Given the description of an element on the screen output the (x, y) to click on. 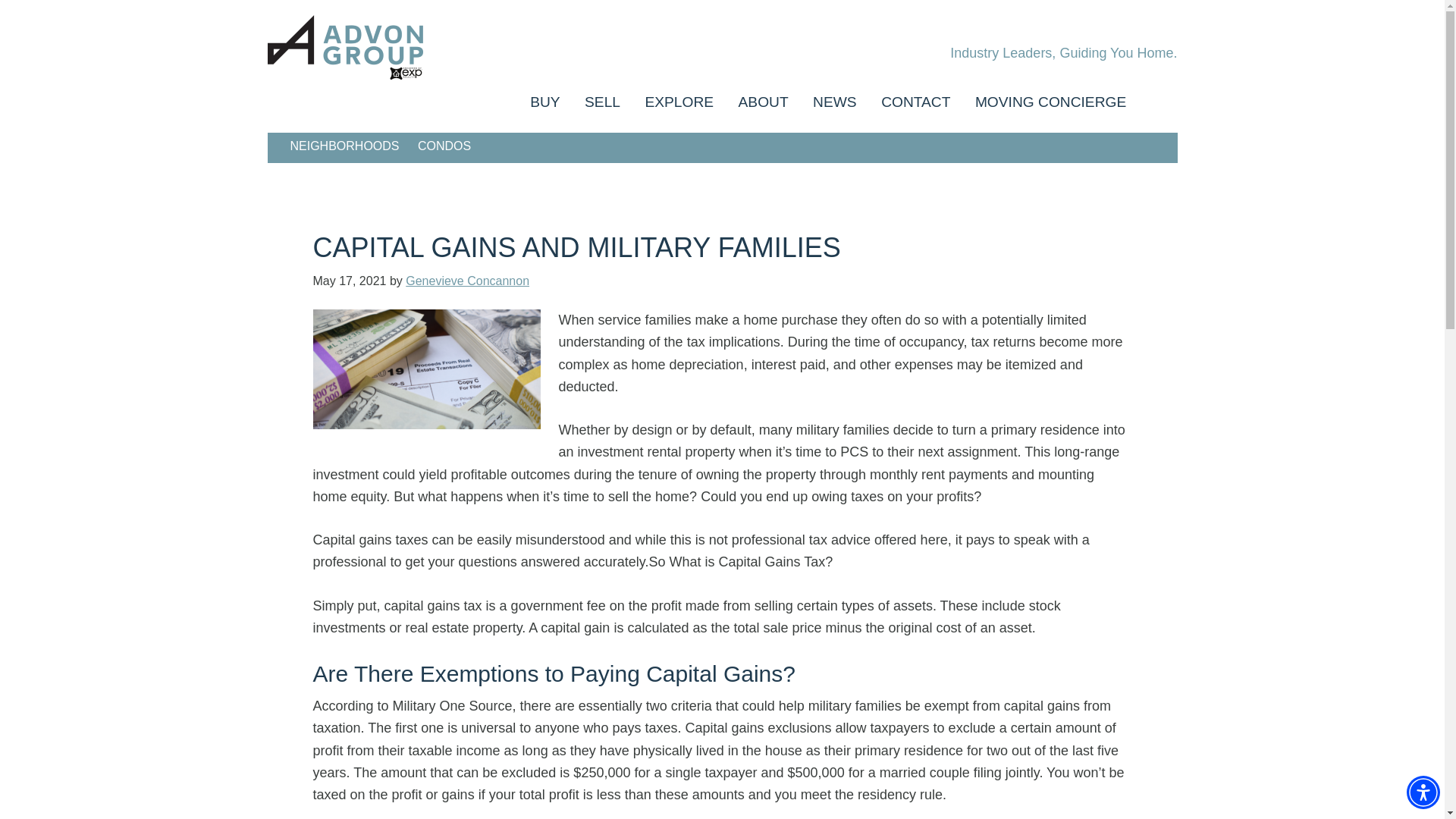
NEWS (834, 101)
Accessibility Menu (1422, 792)
MOVING CONCIERGE (1050, 101)
CONDOS (444, 145)
CONTACT (915, 101)
EXPLORE (678, 101)
Genevieve Concannon (467, 280)
Advon (403, 47)
SELL (601, 101)
